Given the description of an element on the screen output the (x, y) to click on. 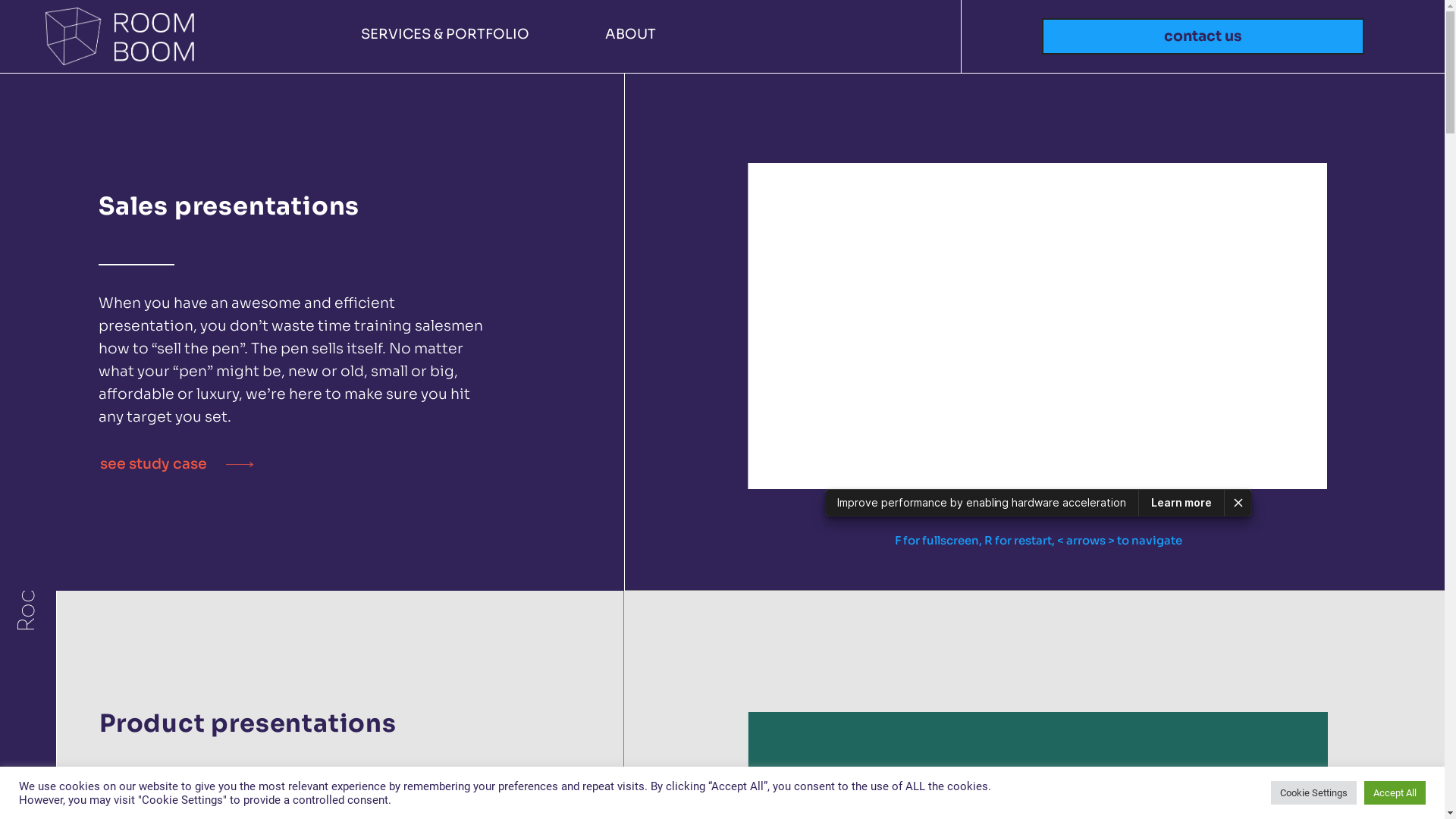
contact us Element type: text (1202, 36)
CONTACT Element type: text (43, 158)
Accept All Element type: text (1394, 792)
see study case Element type: text (176, 464)
ABOUT Element type: text (35, 241)
RoomBoom Element type: text (78, 514)
SERVICES & PORTFOLIO Element type: text (76, 321)
SERVICES & PORTFOLIO Element type: text (444, 33)
ABOUT Element type: text (630, 33)
Cookie Settings Element type: text (1313, 792)
